Given the description of an element on the screen output the (x, y) to click on. 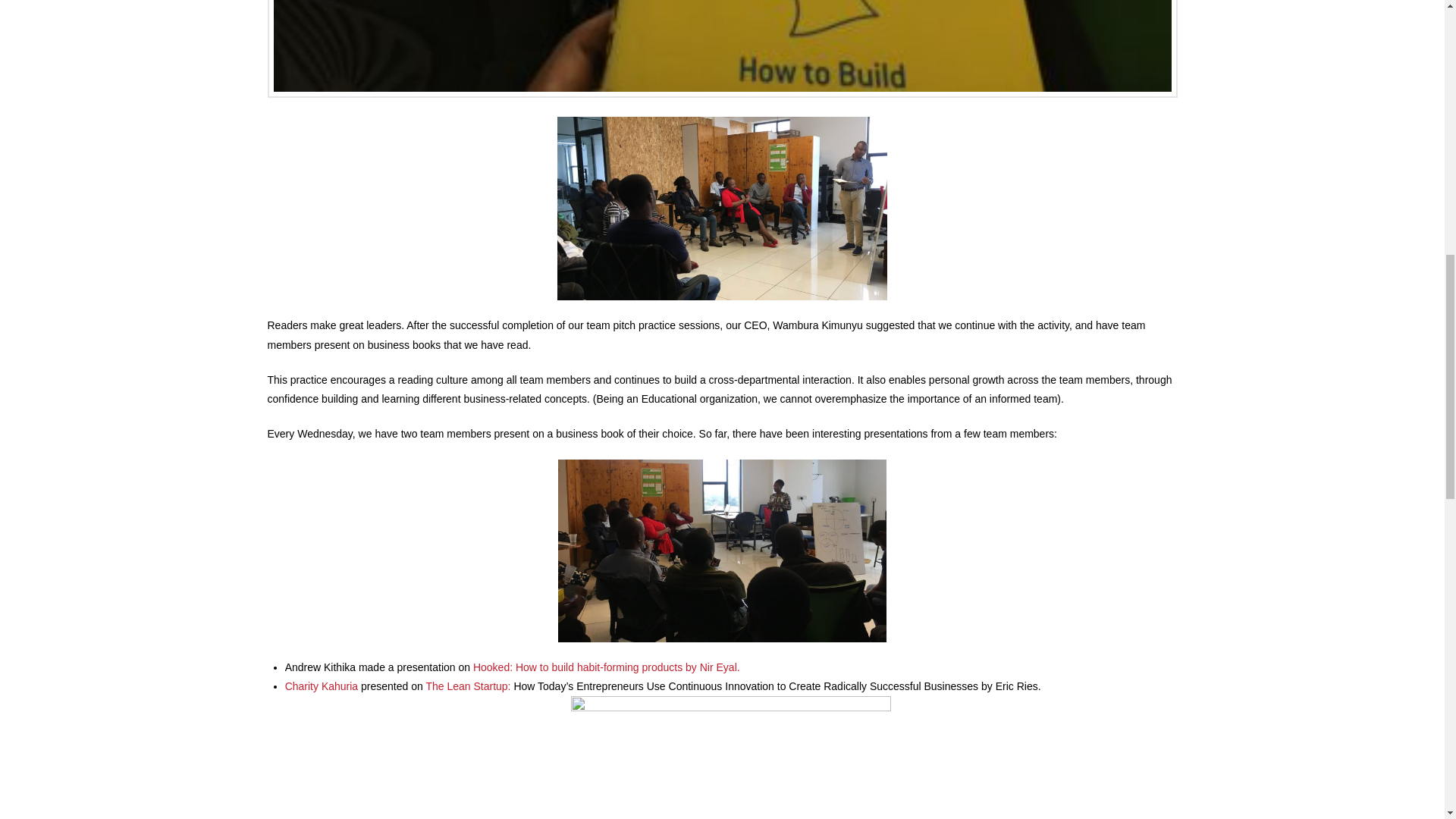
The Lean Startup:  (469, 686)
Find all the author's book (718, 666)
Hooked: How to build habit-forming products by  (586, 666)
Nir Eyal (718, 666)
Charity Kahuria (321, 686)
